Given the description of an element on the screen output the (x, y) to click on. 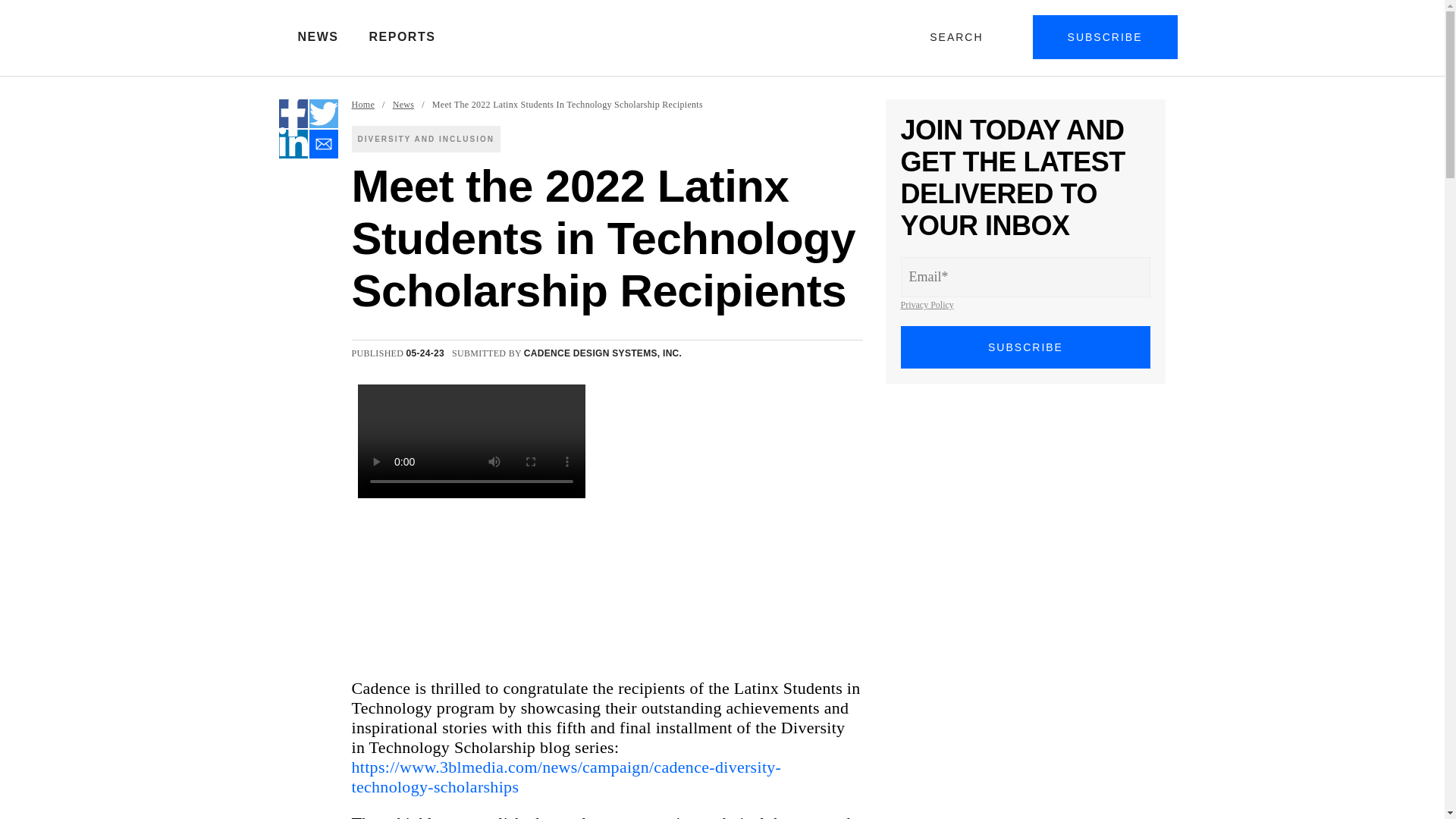
SEARCH (959, 36)
DIVERSITY AND INCLUSION (426, 139)
SUBSCRIBE (1104, 36)
SUBSCRIBE (1026, 346)
Facebook (293, 113)
Home (363, 104)
News (403, 104)
Twitter (322, 113)
Privacy Policy (927, 304)
Linkedin (293, 143)
